Given the description of an element on the screen output the (x, y) to click on. 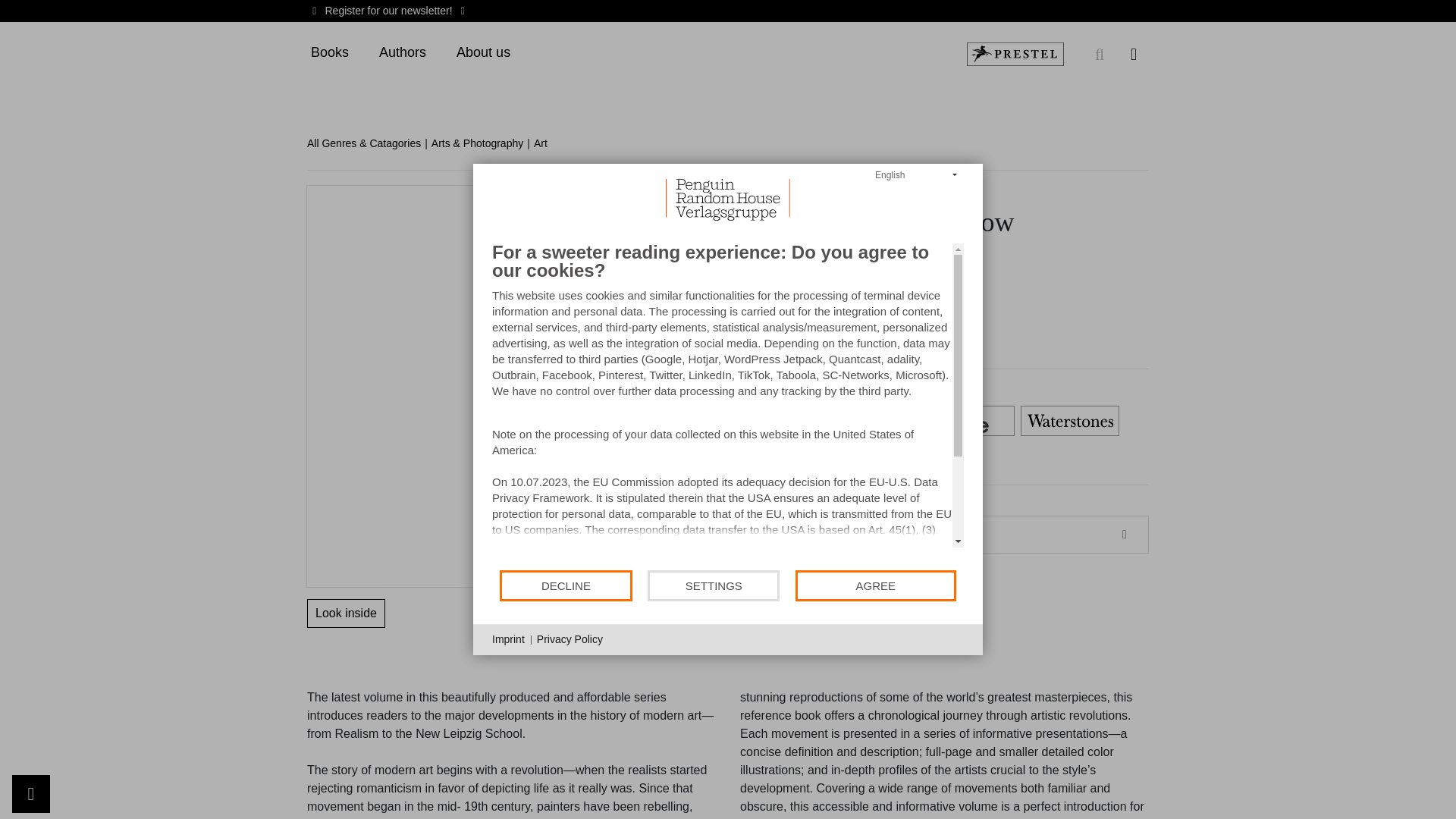
Rosalind Ormiston (651, 193)
Look inside (346, 613)
bookshop (860, 421)
blackwells (755, 421)
amazoncouk (651, 421)
hive (964, 421)
About us (483, 52)
otherstores (651, 458)
Register for our newsletter! (388, 10)
waterstones (1069, 421)
OTHER PRODUCT FORMS (874, 534)
Authors (402, 52)
Books (329, 52)
Art (545, 142)
